Given the description of an element on the screen output the (x, y) to click on. 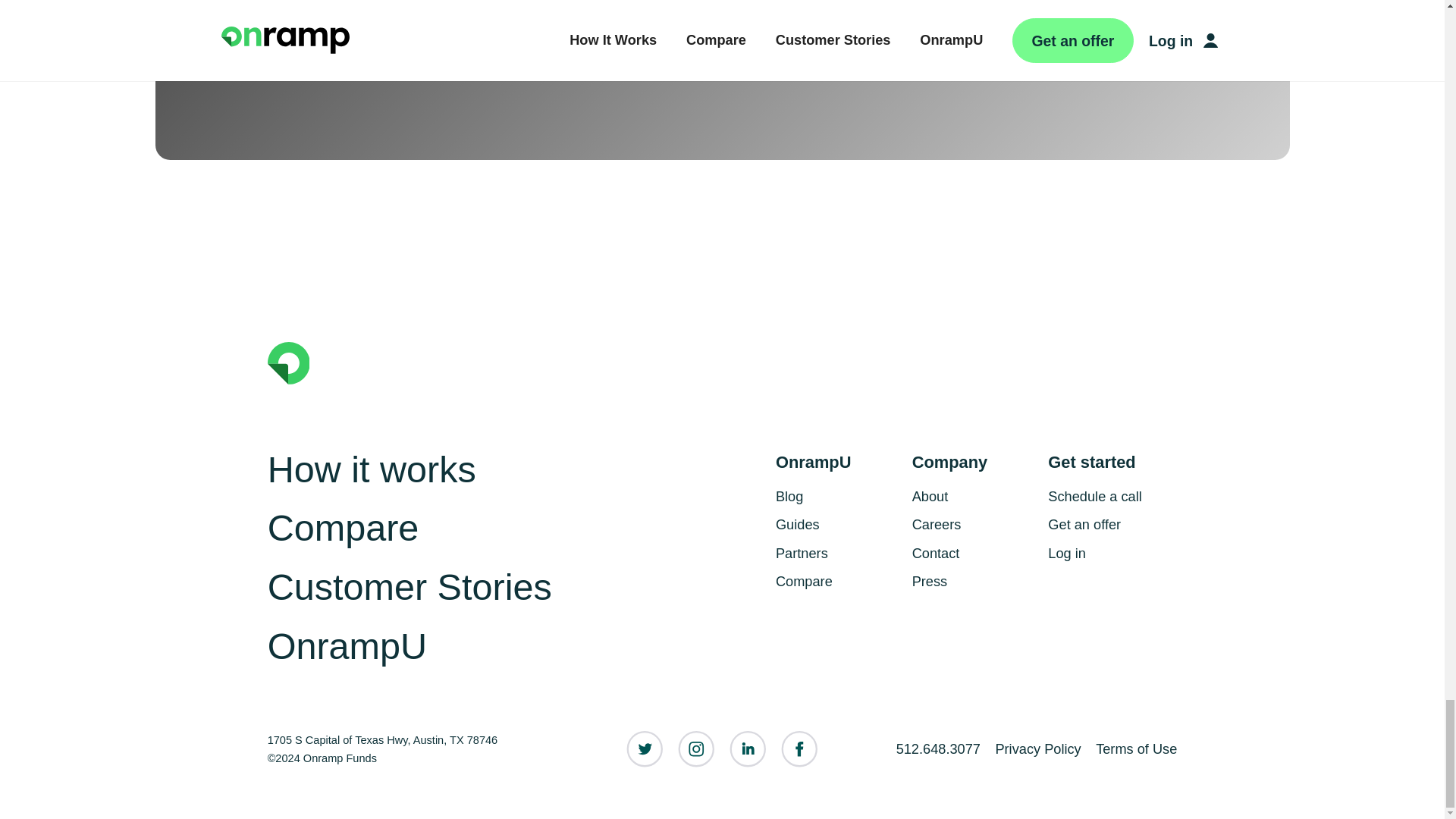
Compare (343, 528)
Blog (840, 496)
Press (976, 581)
Guides (840, 524)
Partners (840, 553)
OnrampU (347, 646)
Schedule a call (1112, 496)
Log in (1112, 553)
About (976, 496)
How it works (371, 469)
